Given the description of an element on the screen output the (x, y) to click on. 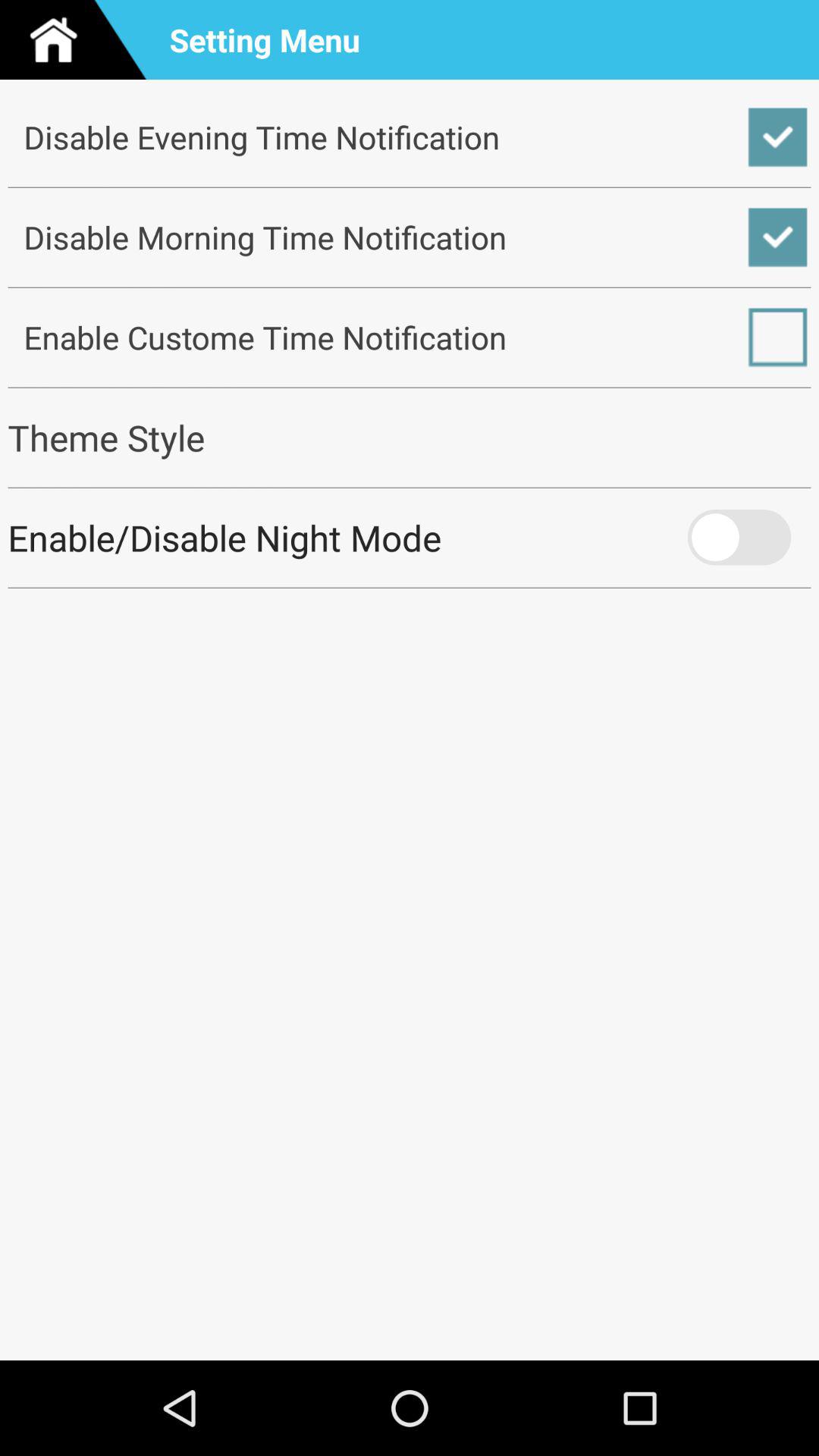
jump until the theme style icon (409, 437)
